Given the description of an element on the screen output the (x, y) to click on. 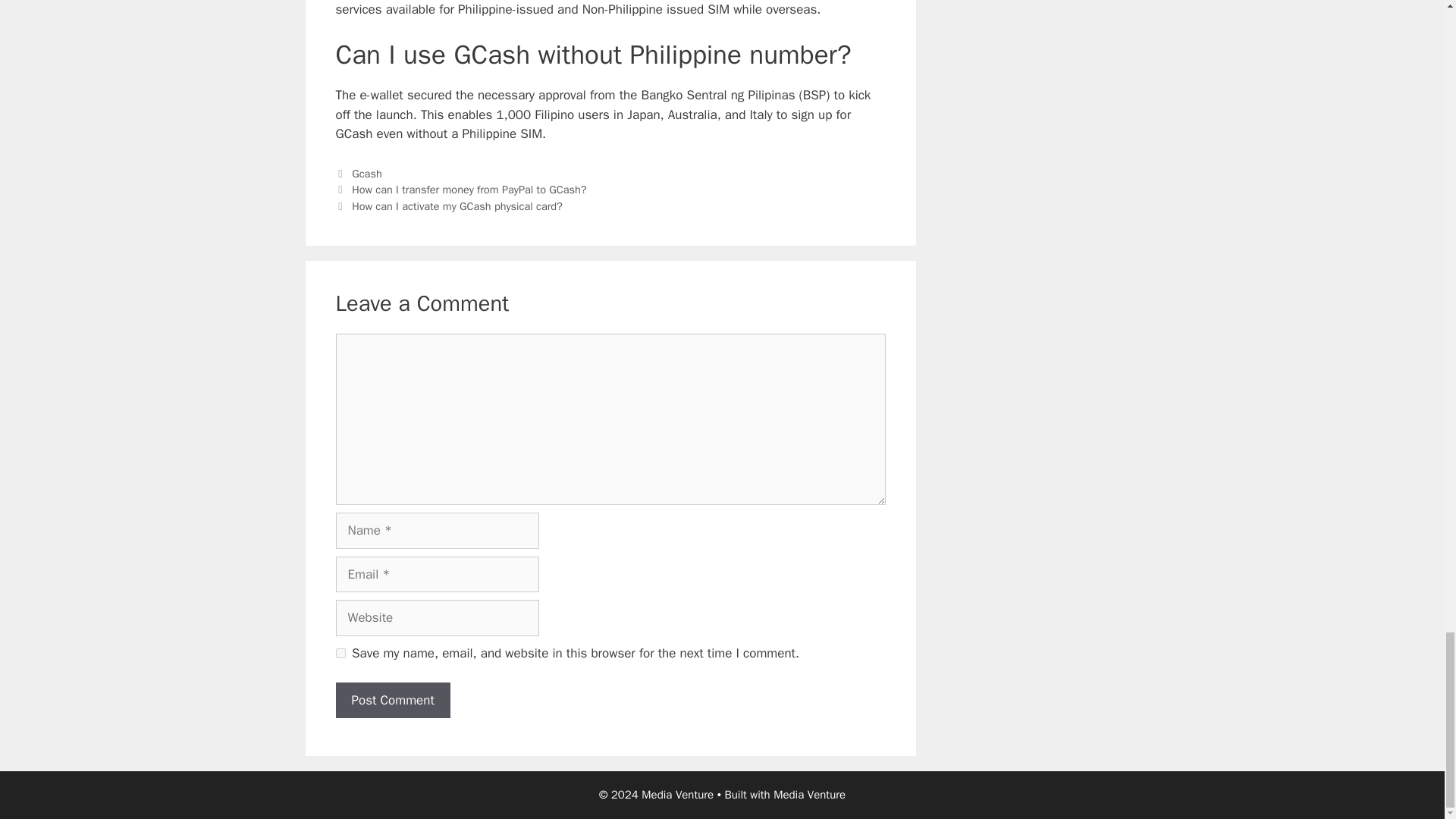
Post Comment (391, 700)
Gcash (366, 173)
yes (339, 653)
Post Comment (391, 700)
Media Venture (809, 794)
How can I activate my GCash physical card? (457, 205)
How can I transfer money from PayPal to GCash? (469, 189)
